Given the description of an element on the screen output the (x, y) to click on. 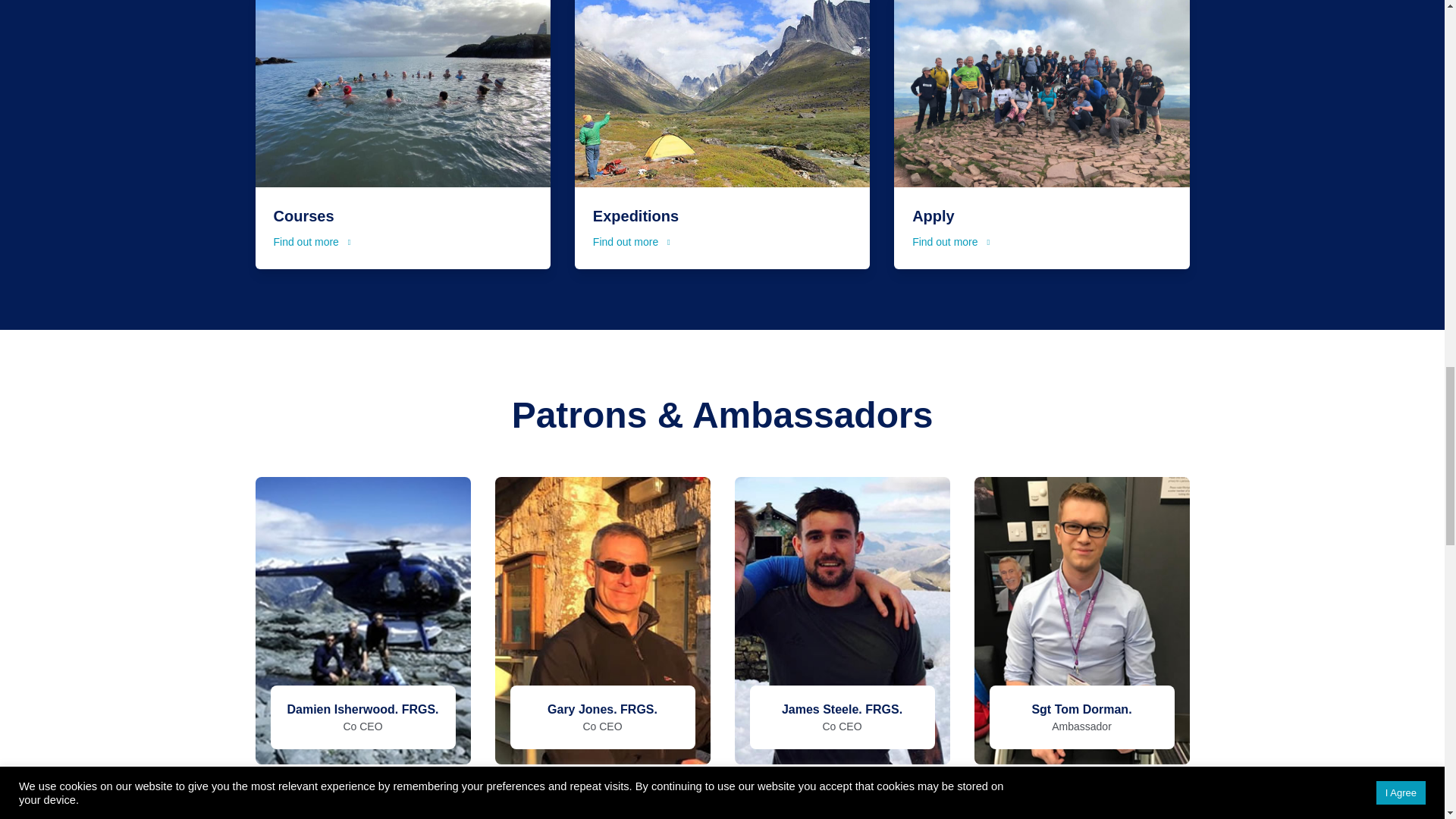
Find out more (311, 241)
Find out more (630, 241)
Find out more (951, 241)
